Given the description of an element on the screen output the (x, y) to click on. 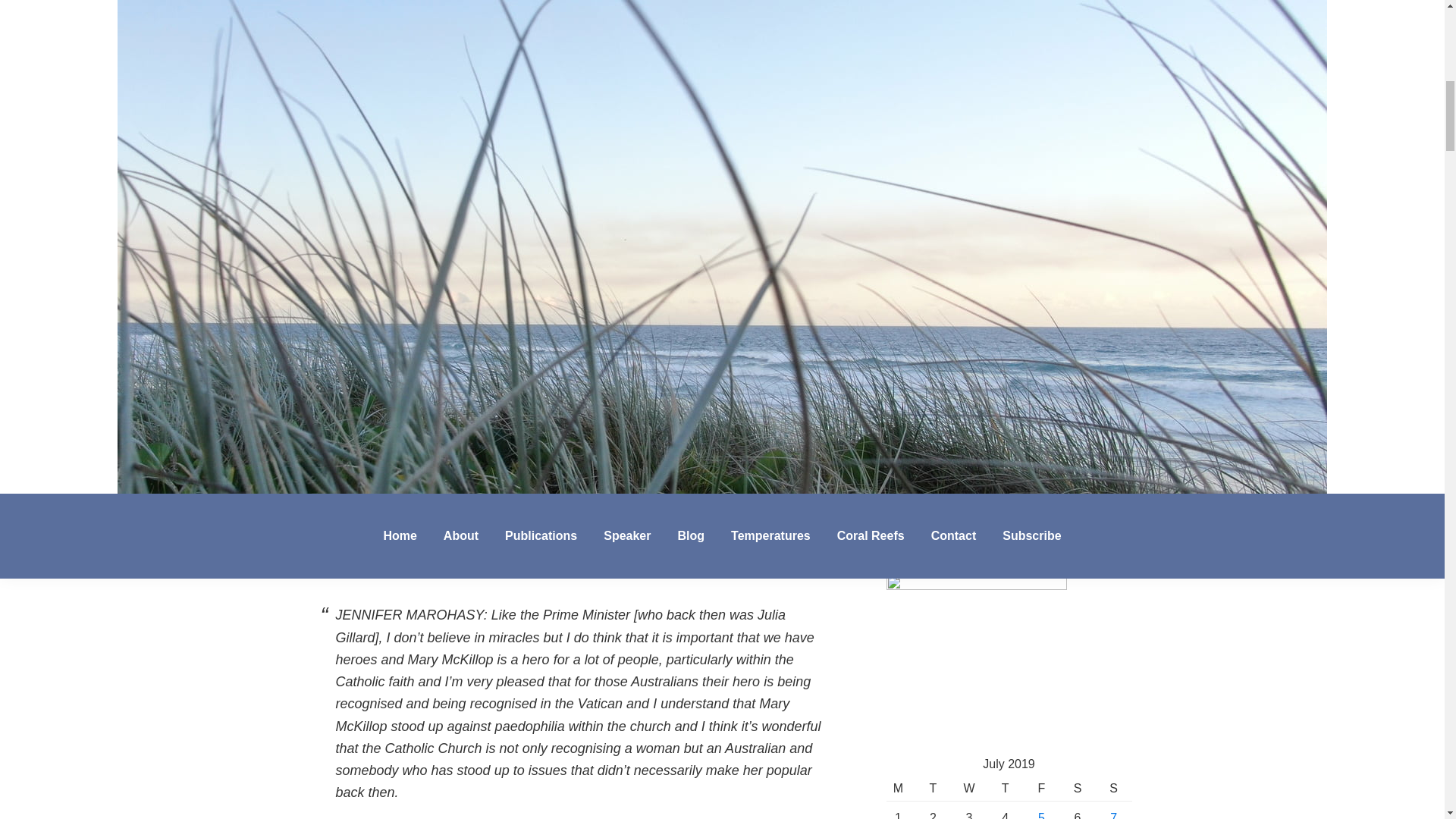
Great Barrier Reef News (891, 382)
Monthly Summary (891, 426)
Wednesday (968, 788)
Friday (1041, 788)
All News (891, 293)
Subscribe (937, 474)
Murray Darling News (891, 316)
Monday (899, 788)
Freedom of Speech News (891, 404)
Thursday (1005, 788)
